Given the description of an element on the screen output the (x, y) to click on. 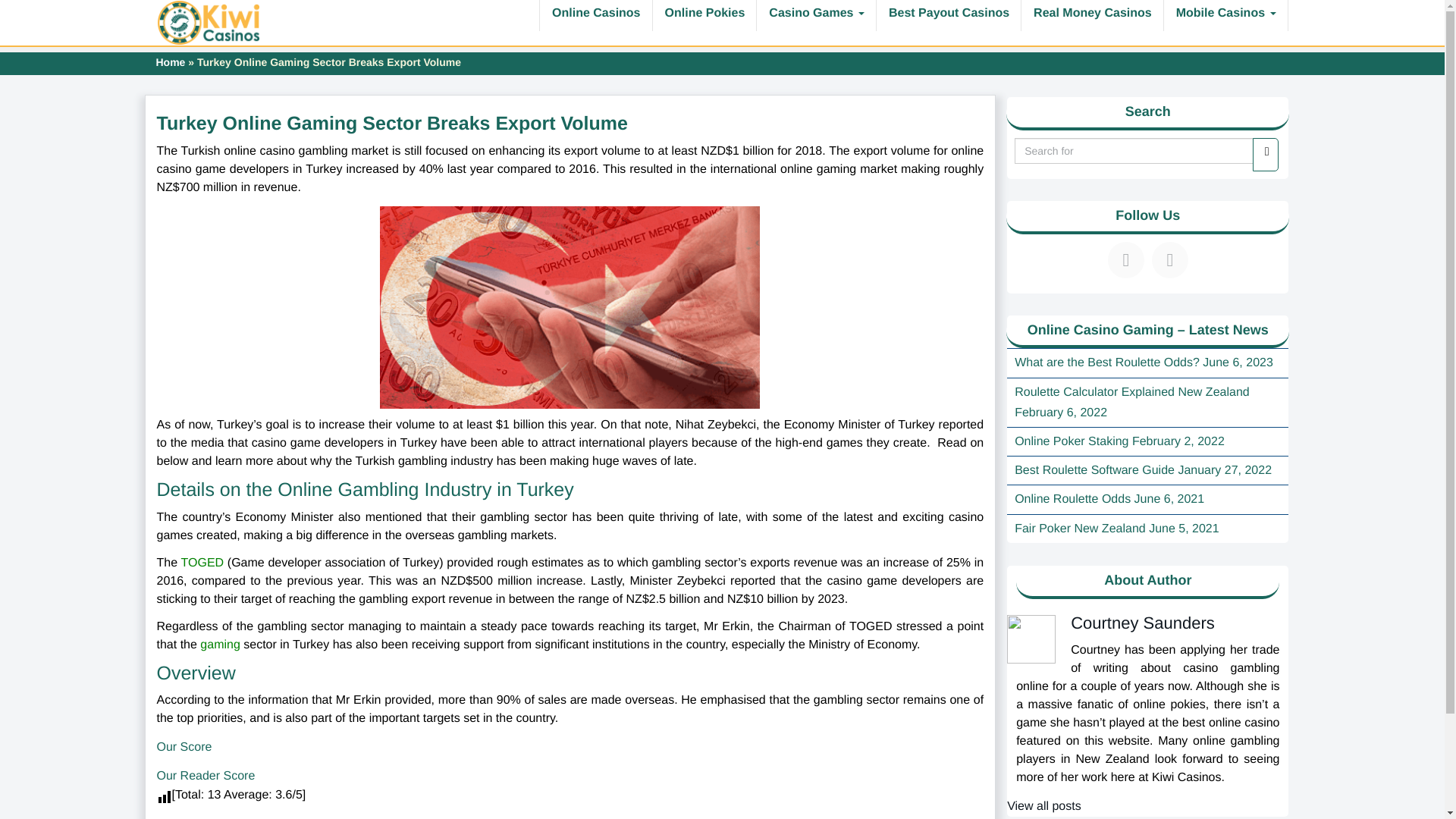
View all posts (1044, 806)
Casino Games (816, 15)
Fair Poker New Zealand (1079, 528)
Online Poker Staking (1071, 440)
Roulette Calculator Explained New Zealand (1131, 391)
Online Casino New Zealand (208, 22)
Online Casinos (595, 15)
Courtney Saunders (1142, 622)
What are the Best Roulette Odds? (1106, 362)
Best Roulette Software Guide (1094, 470)
